Given the description of an element on the screen output the (x, y) to click on. 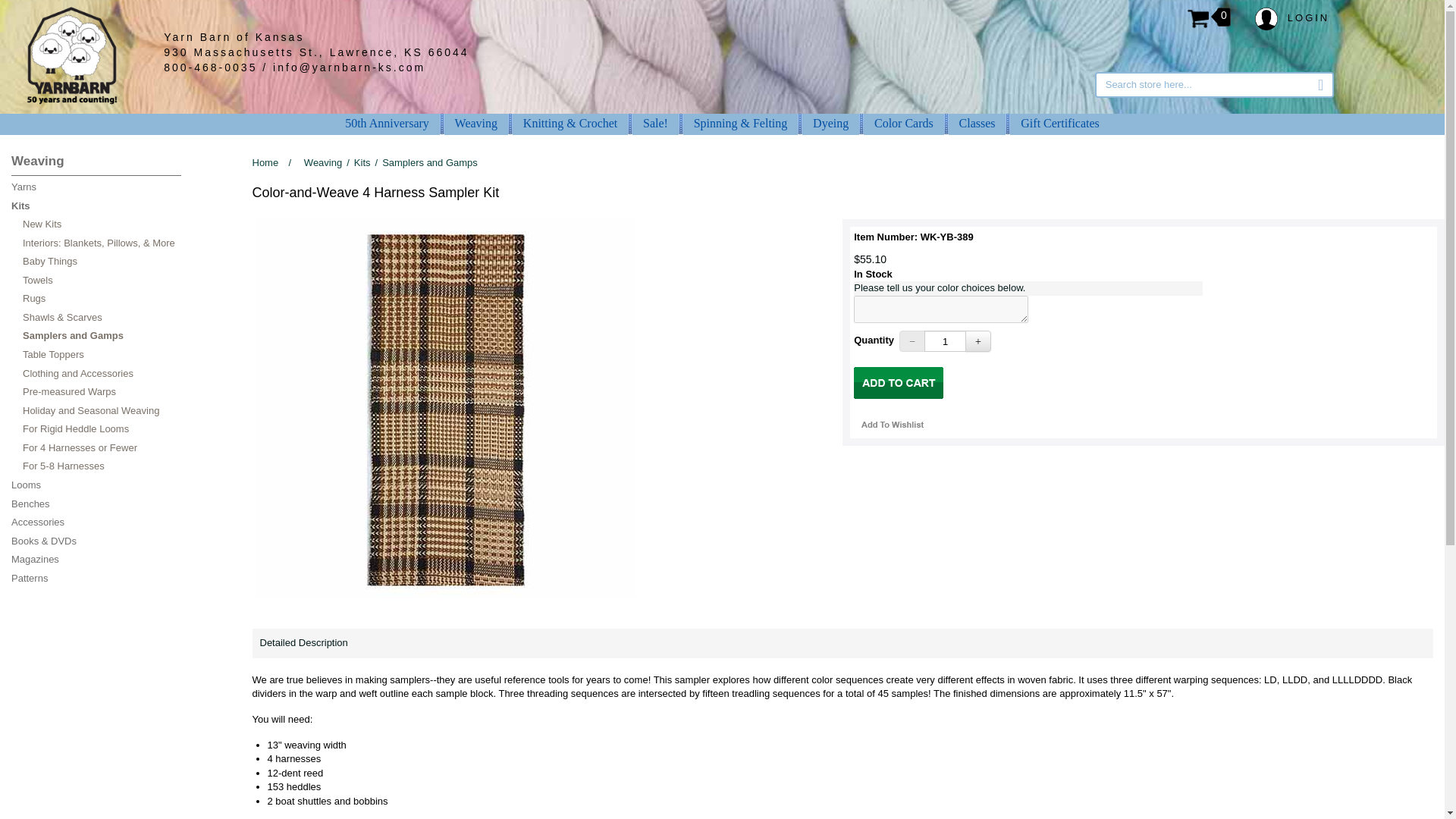
Search store here... (1213, 84)
  LOGIN (1292, 18)
1 (945, 341)
Weaving (475, 123)
Yarn Barn Of Kansas (71, 54)
Search store here... (1213, 84)
wishlist (892, 424)
50th Anniversary (387, 123)
cart (898, 382)
Weaving (475, 123)
50th Anniversary (387, 123)
